Given the description of an element on the screen output the (x, y) to click on. 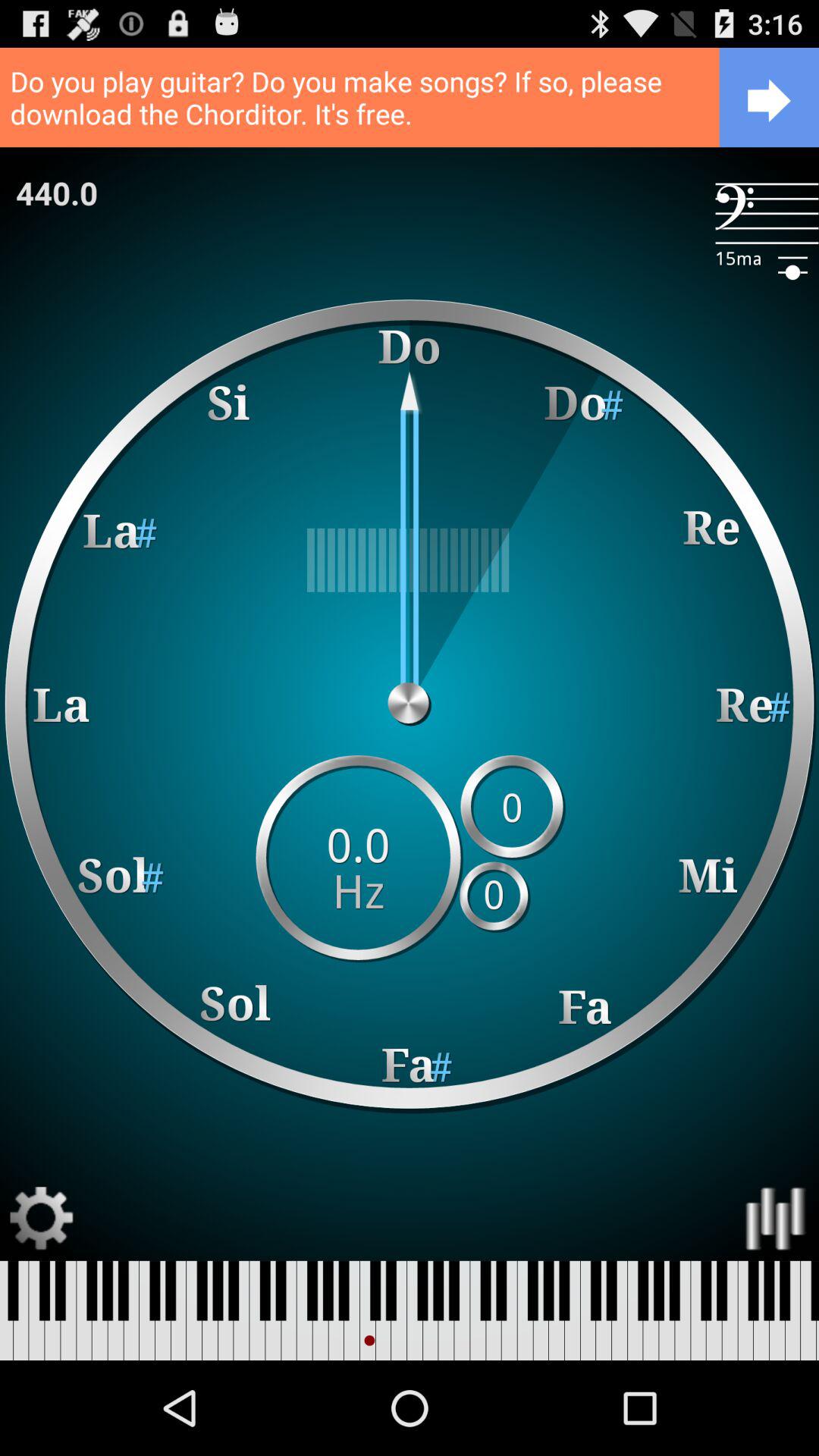
open the 440.0 at the top left corner (56, 192)
